Given the description of an element on the screen output the (x, y) to click on. 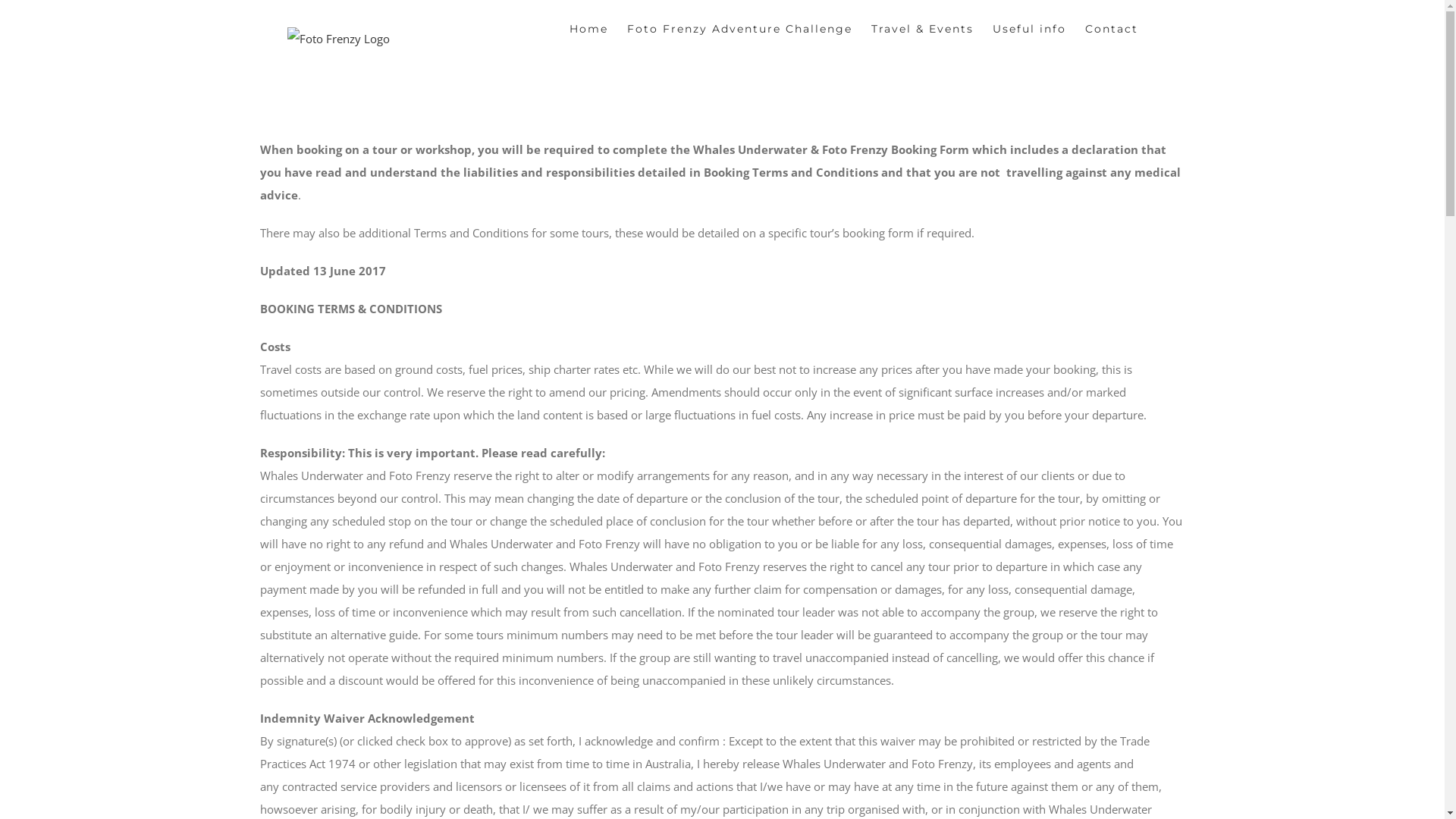
Foto Frenzy Adventure Challenge Element type: text (739, 27)
Travel & Events Element type: text (922, 27)
Contact Element type: text (1111, 27)
Home Element type: text (588, 27)
Useful info Element type: text (1029, 27)
